Given the description of an element on the screen output the (x, y) to click on. 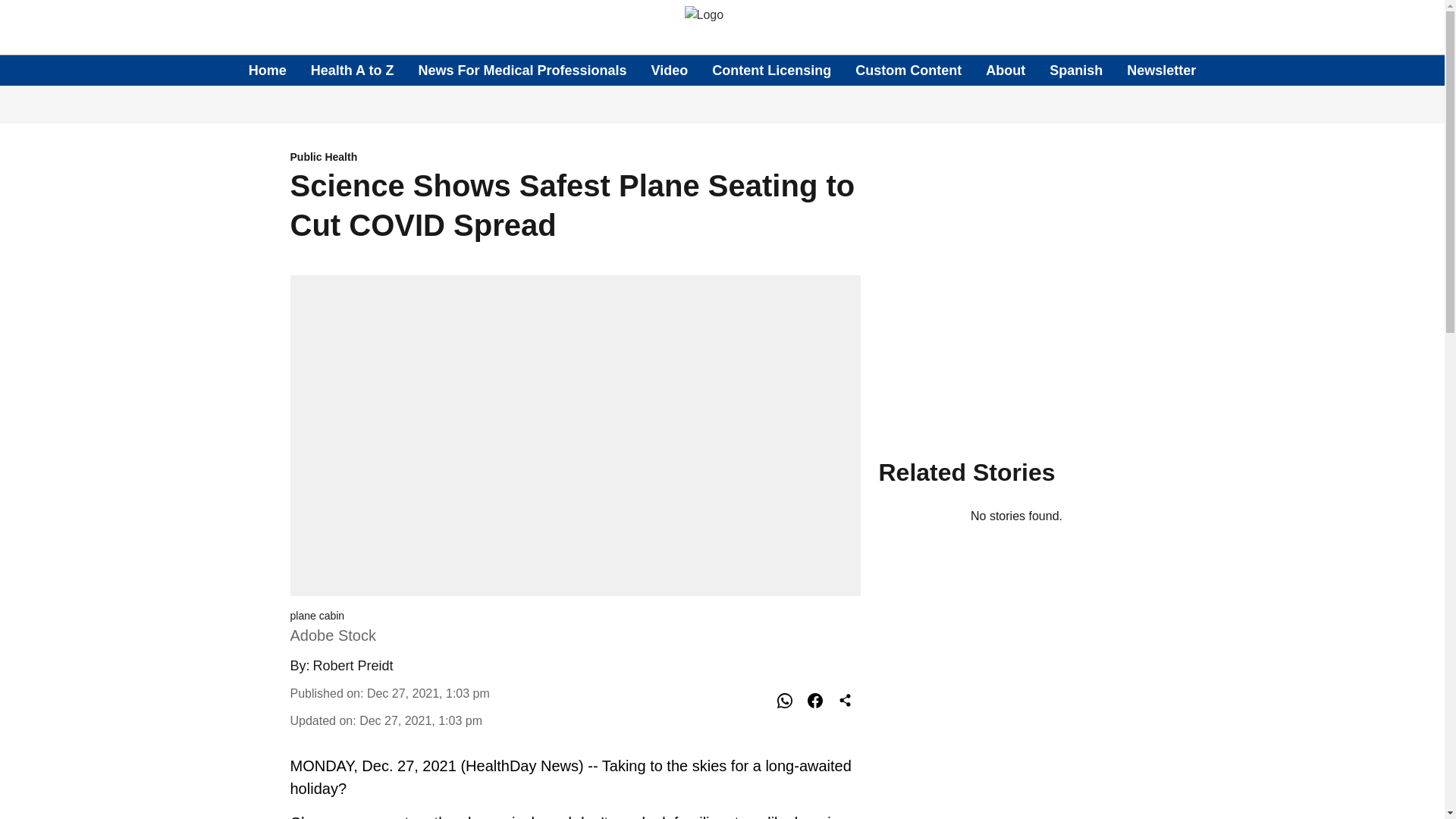
2021-12-27 13:03 (420, 720)
Home (267, 70)
Health A to Z (352, 70)
2021-12-27 13:03 (427, 693)
